Given the description of an element on the screen output the (x, y) to click on. 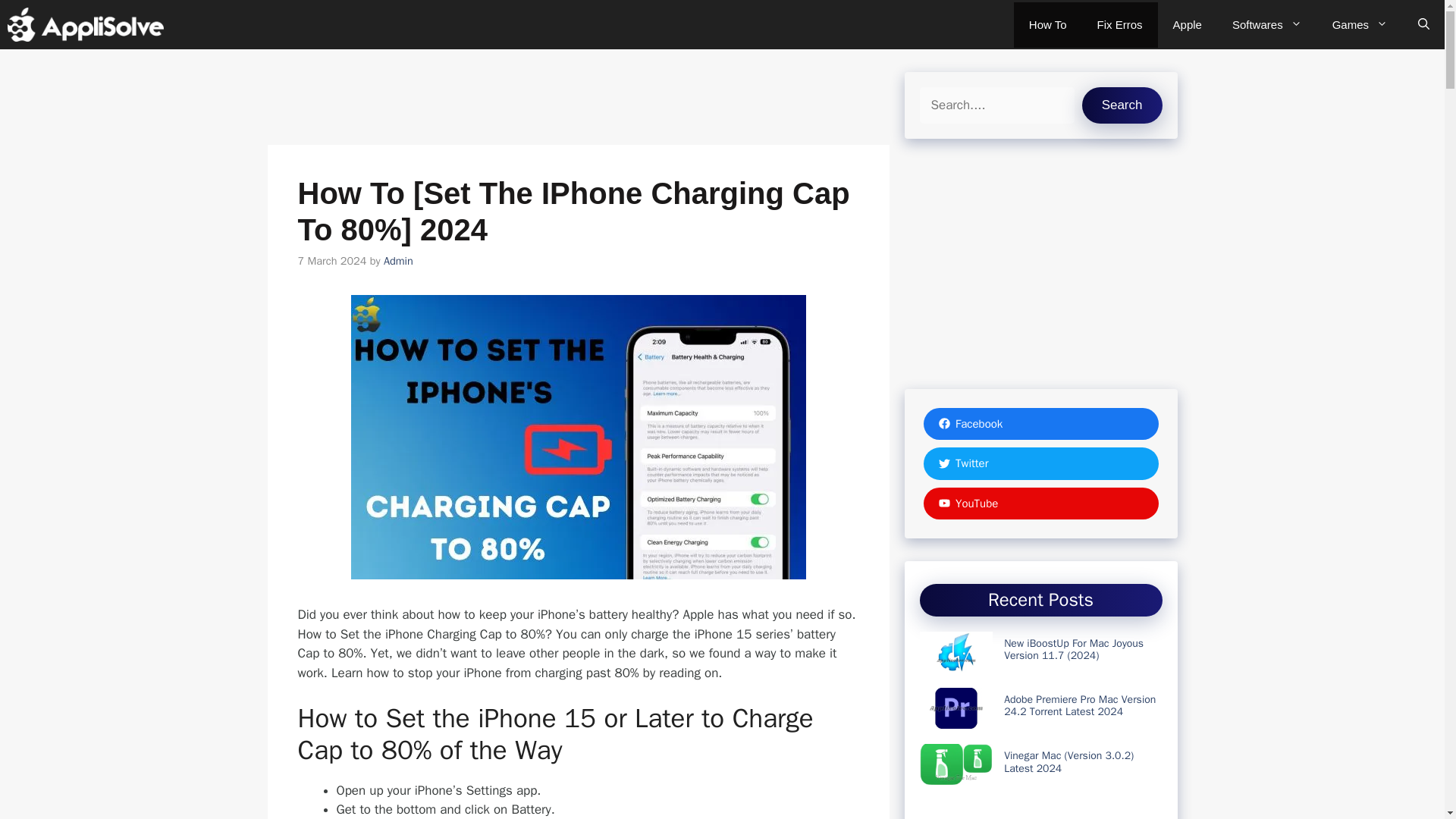
Games (1360, 23)
How To (1047, 23)
Advertisement (1040, 266)
YouTube (1040, 502)
Admin (398, 260)
Softwares (1267, 23)
Advertisement (1039, 813)
Search (1121, 104)
Apple (1187, 23)
Fix Erros (1119, 23)
